Given the description of an element on the screen output the (x, y) to click on. 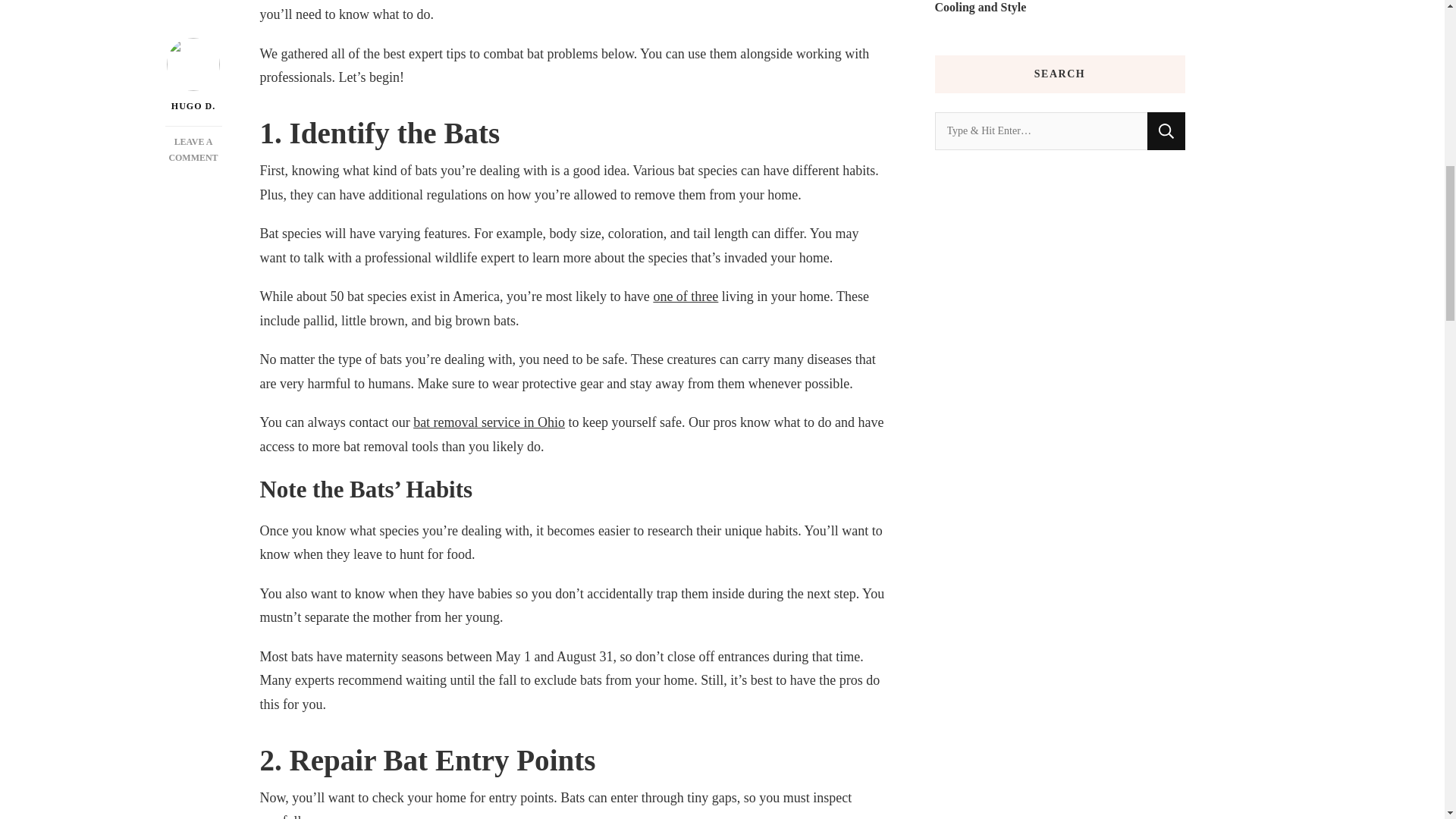
HUGO D. (193, 15)
bat removal service in Ohio (192, 67)
one of three (488, 421)
Search (684, 296)
Search (1166, 130)
